Given the description of an element on the screen output the (x, y) to click on. 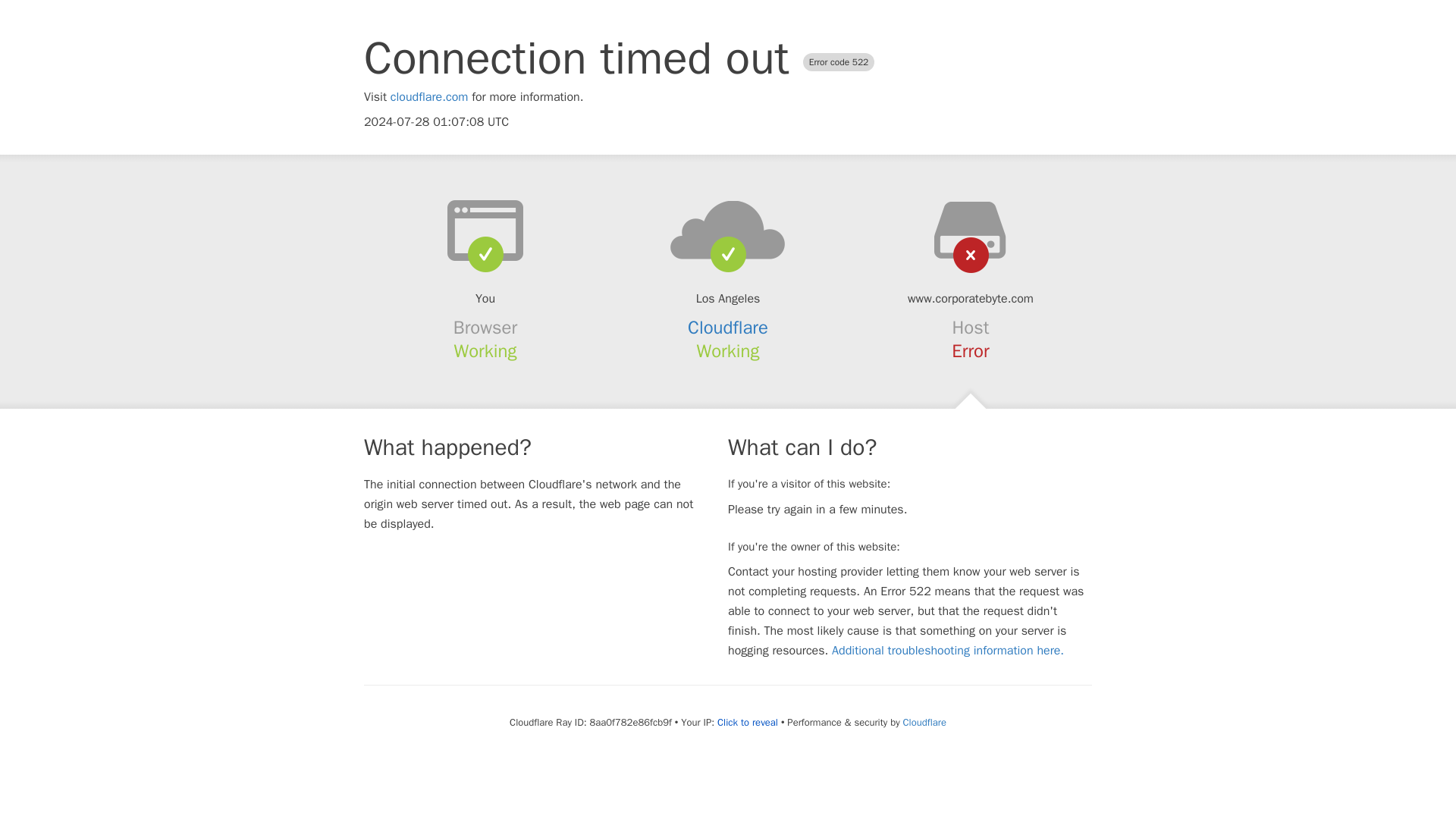
Additional troubleshooting information here. (947, 650)
Cloudflare (727, 327)
Cloudflare (924, 721)
Click to reveal (747, 722)
cloudflare.com (429, 96)
